Given the description of an element on the screen output the (x, y) to click on. 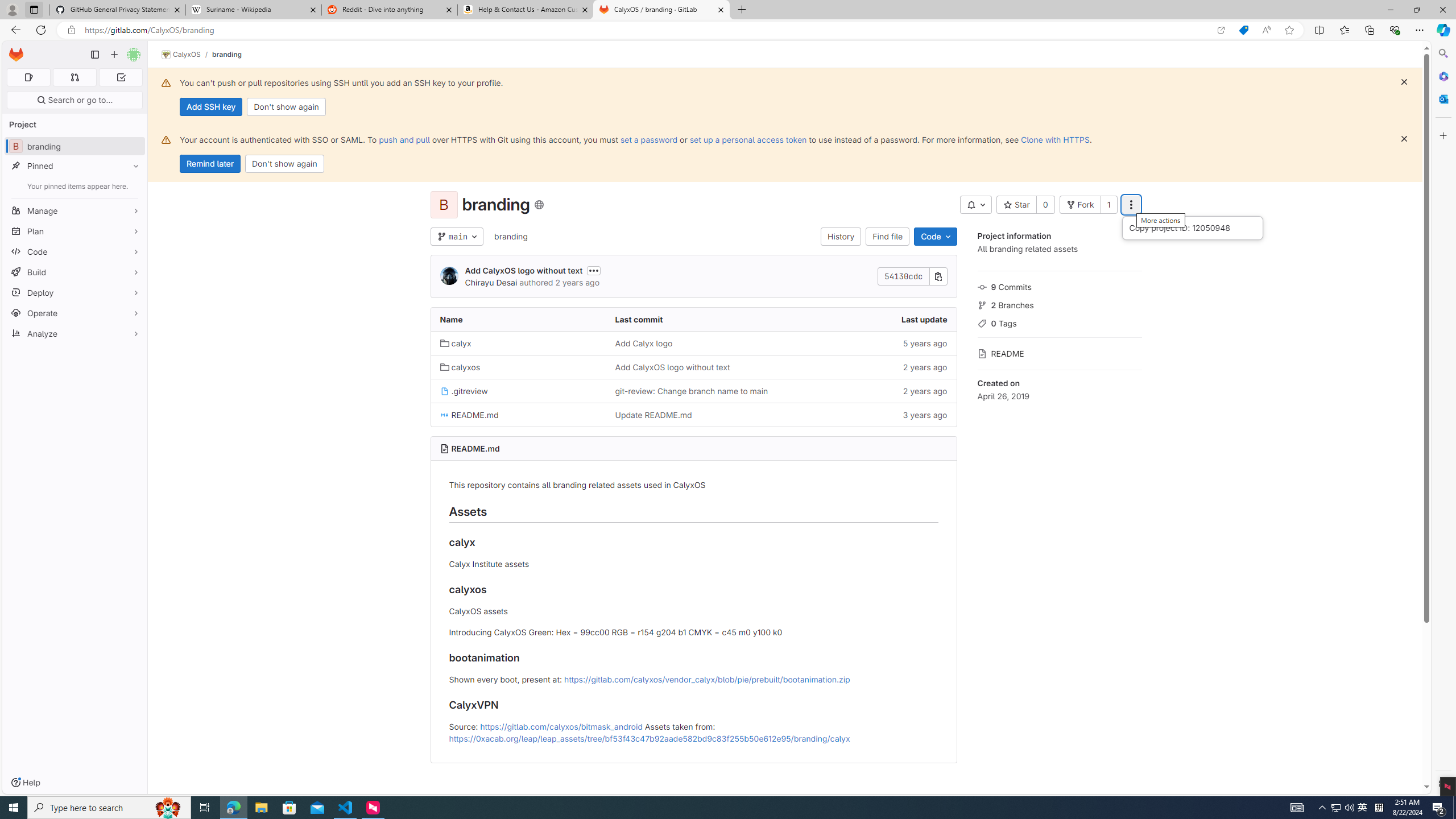
Build (74, 271)
History (840, 236)
Operate (74, 312)
Code (74, 251)
set up a personal access token (747, 139)
git-review: Change branch name to main (693, 390)
.gitreview (463, 390)
branding (510, 236)
Last update (868, 319)
calyx (517, 342)
2 years ago (868, 390)
